Given the description of an element on the screen output the (x, y) to click on. 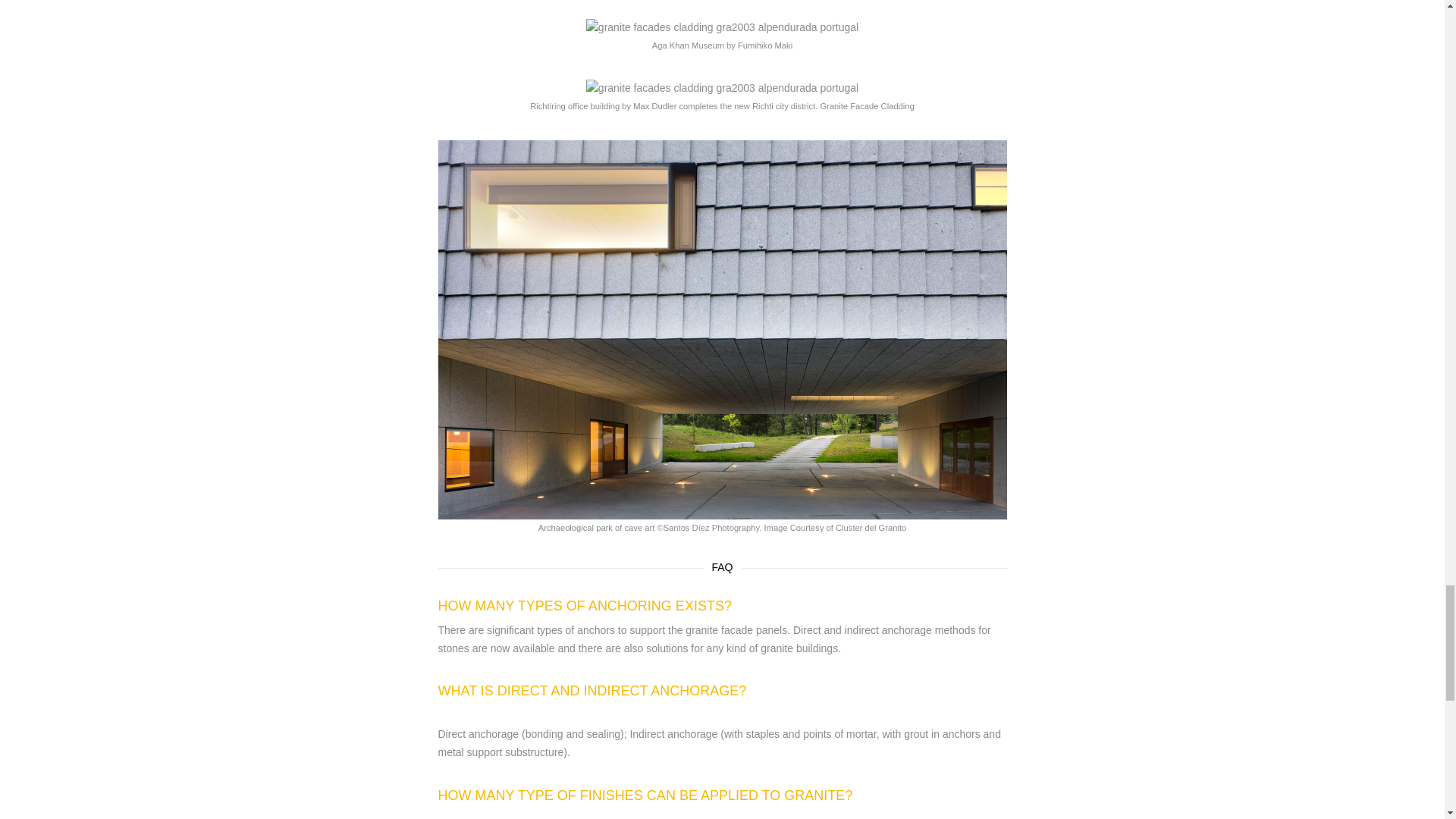
HOW MANY TYPES OF ANCHORING EXISTS? (585, 605)
HOW MANY TYPE OF FINISHES CAN BE APPLIED TO GRANITE? (645, 795)
WHAT IS DIRECT AND INDIRECT ANCHORAGE? (592, 690)
